Given the description of an element on the screen output the (x, y) to click on. 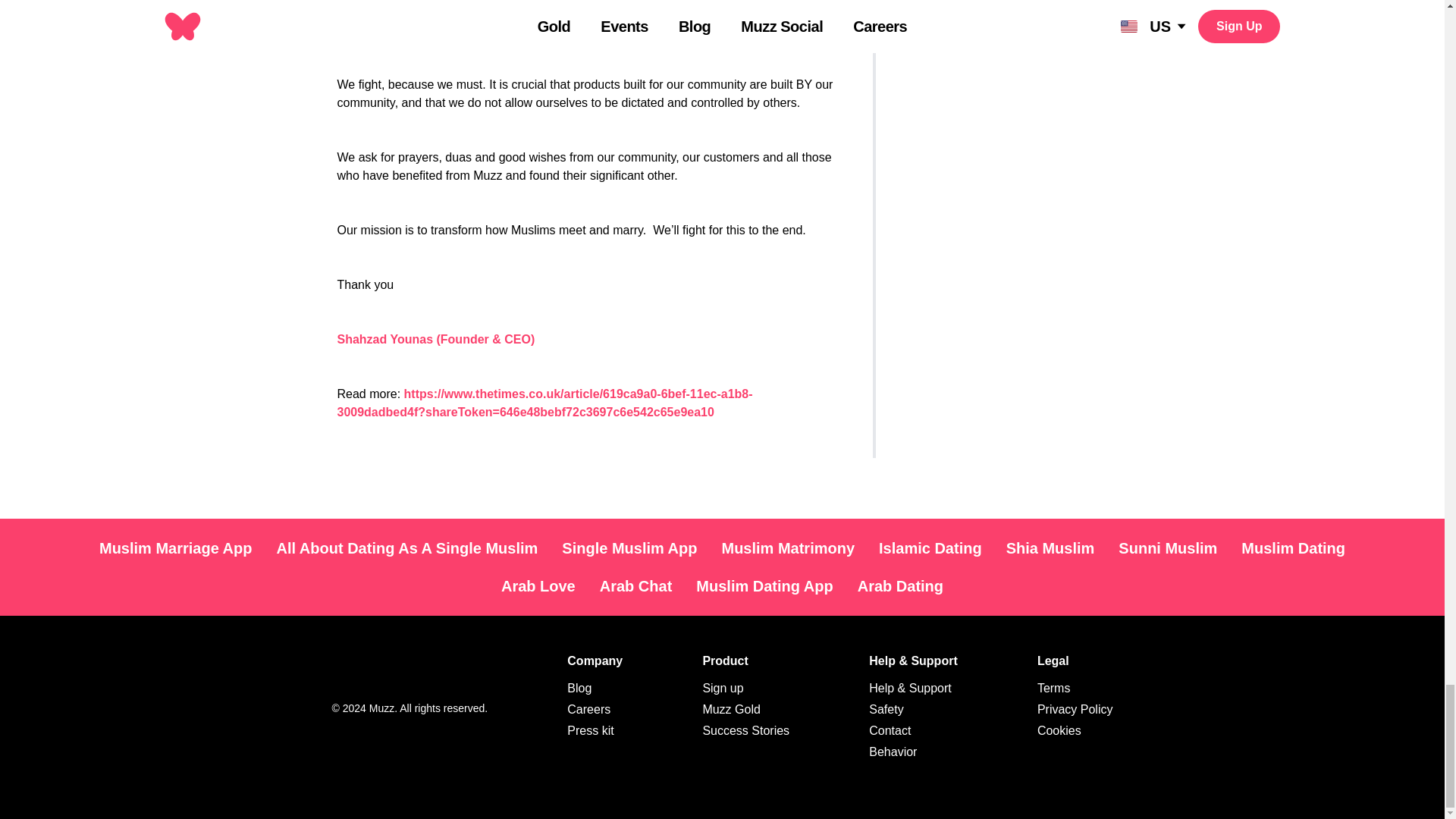
Arab Love (538, 585)
Sunni Muslim (1167, 547)
Muslim Matrimony (787, 547)
Blog (579, 687)
Muslim Dating (1292, 547)
Arab Dating (900, 585)
Islamic Dating (930, 547)
Single Muslim App (629, 547)
All About Dating As A Single Muslim (406, 547)
Muslim Marriage App (175, 547)
